Given the description of an element on the screen output the (x, y) to click on. 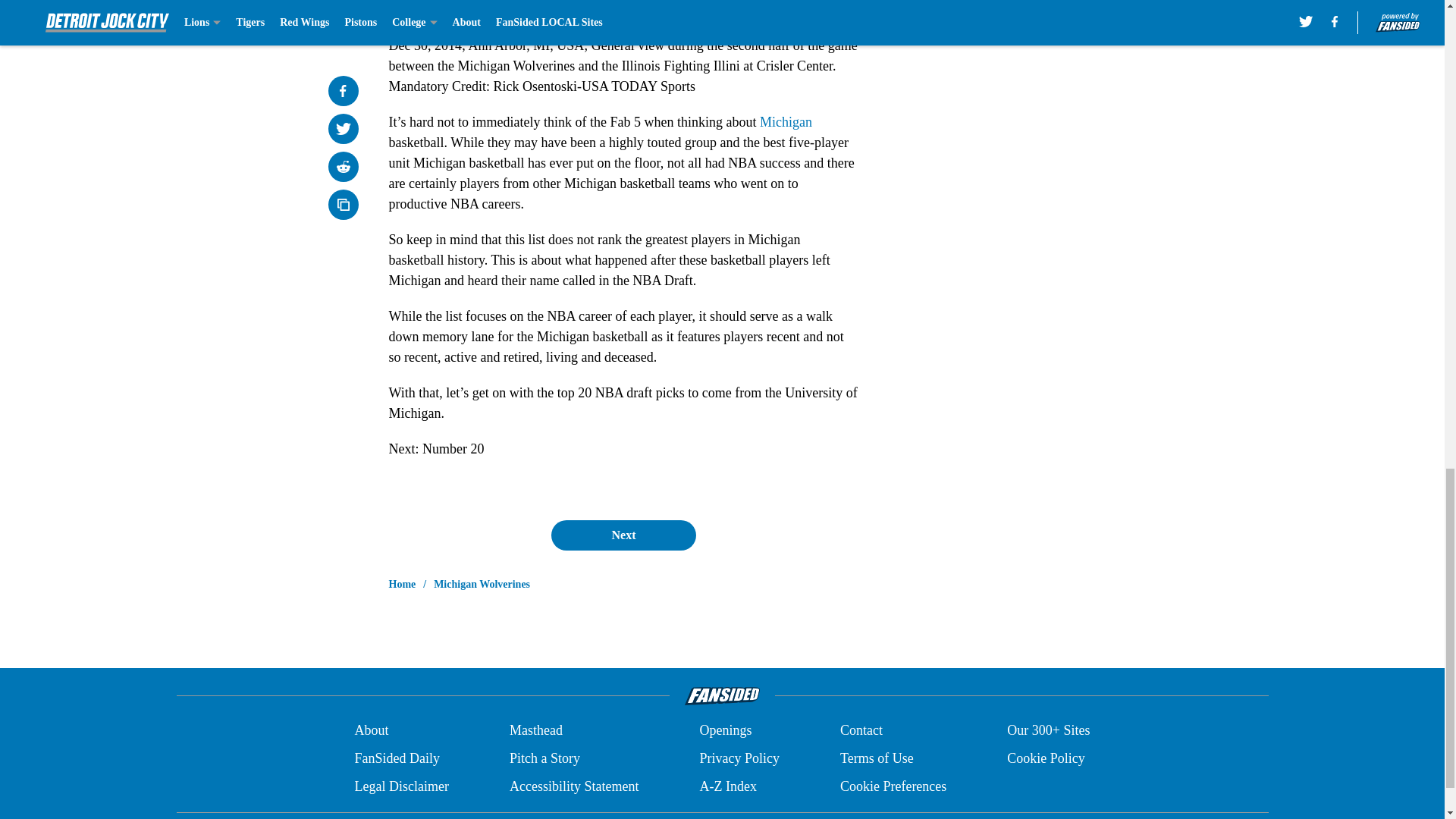
Masthead (535, 730)
Michigan (786, 121)
FanSided Daily (396, 758)
Michigan Wolverines (481, 584)
Home (401, 584)
Pitch a Story (544, 758)
About (370, 730)
Next (622, 535)
Contact (861, 730)
Privacy Policy (738, 758)
Terms of Use (877, 758)
Openings (724, 730)
